Given the description of an element on the screen output the (x, y) to click on. 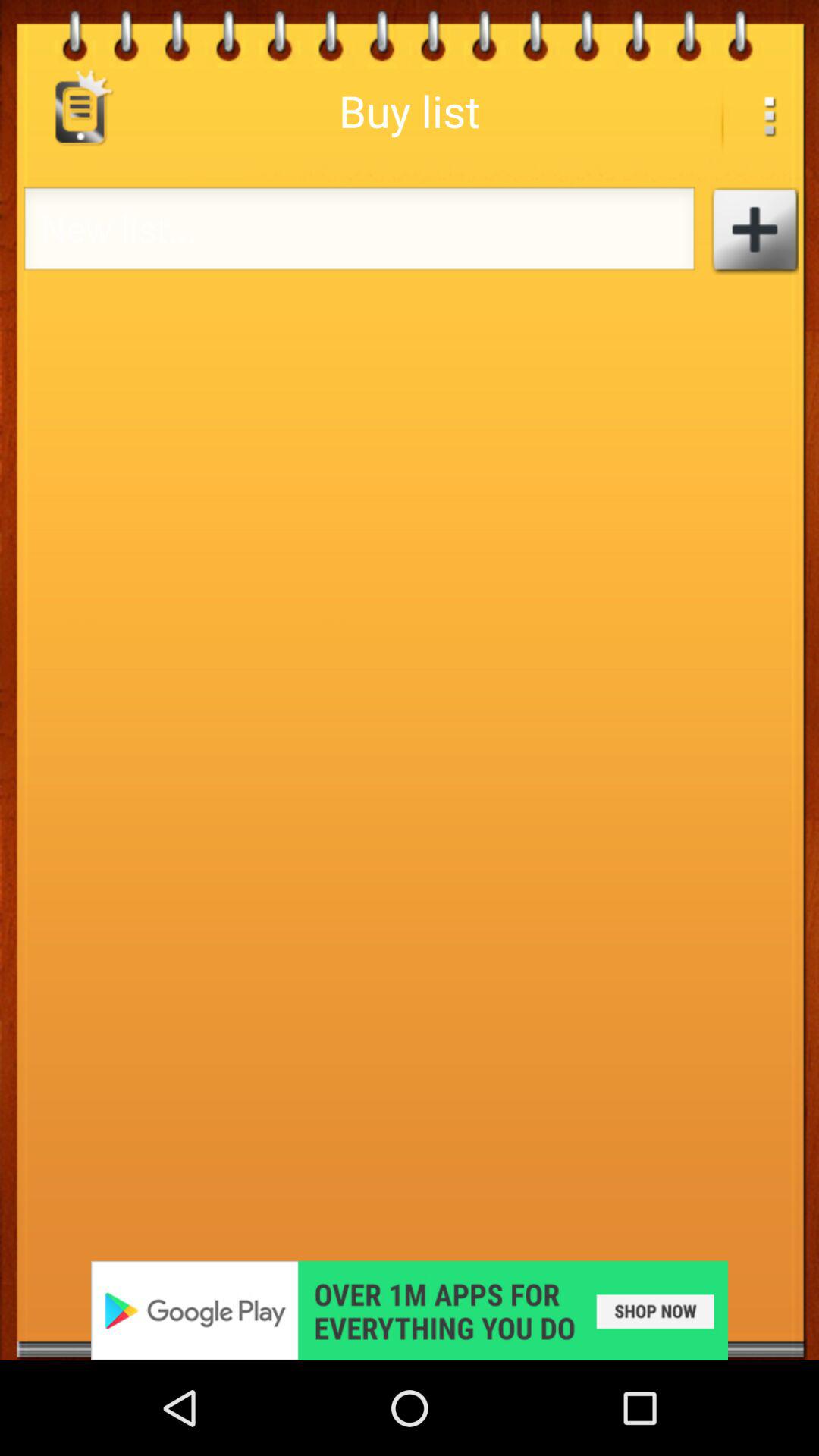
add button (754, 230)
